Given the description of an element on the screen output the (x, y) to click on. 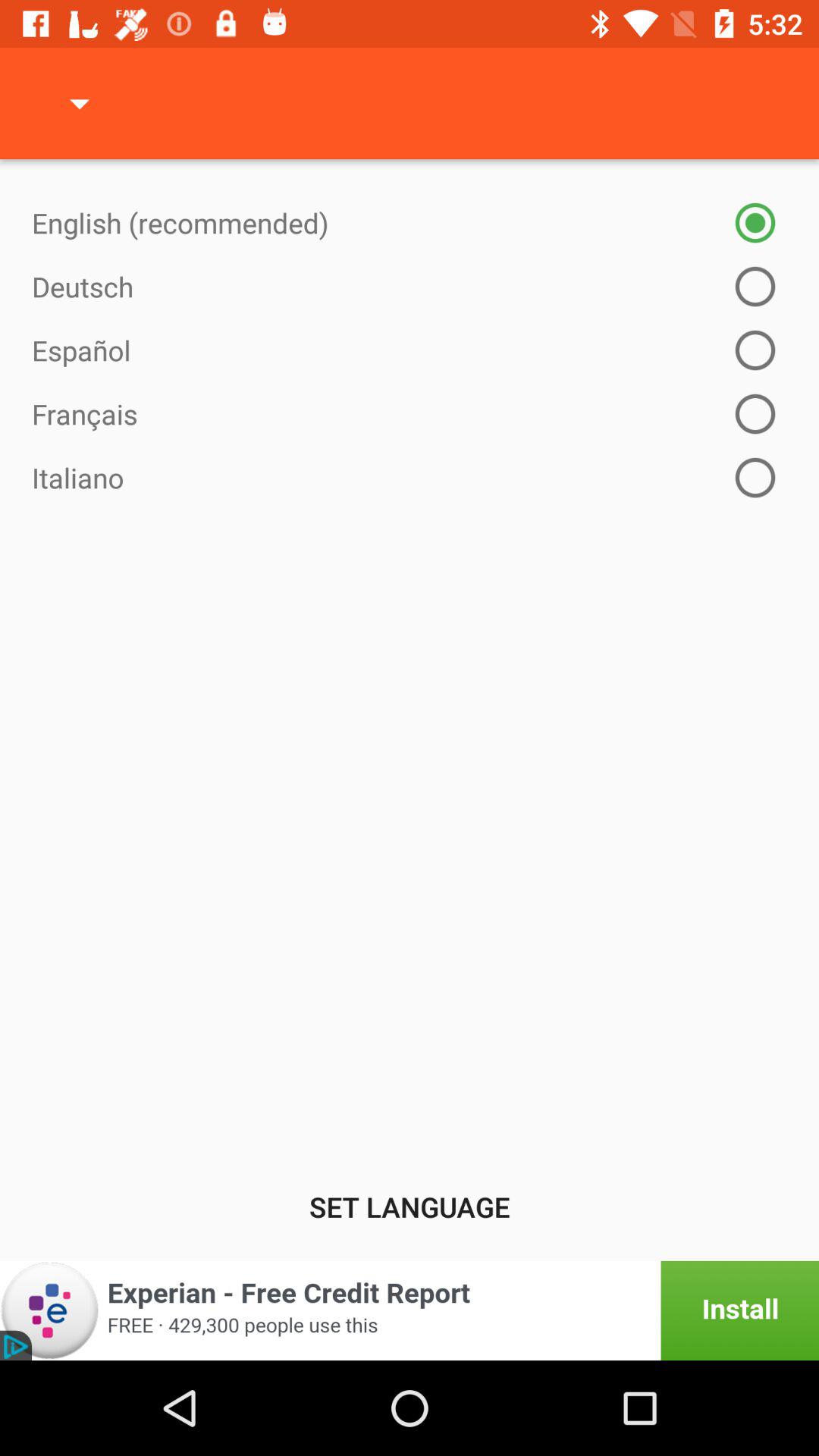
swipe to set language item (409, 1206)
